Given the description of an element on the screen output the (x, y) to click on. 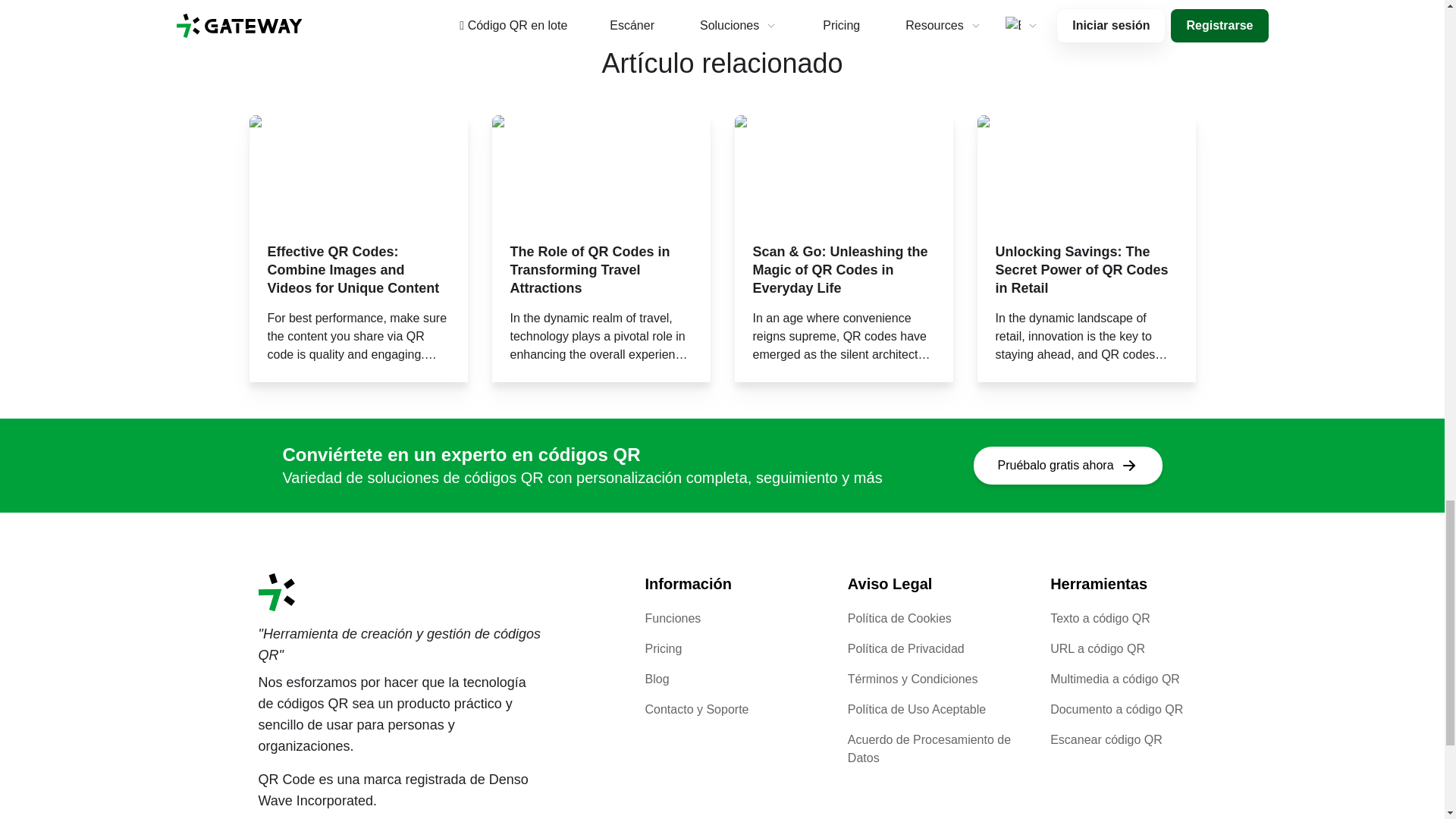
The Role of QR Codes in Transforming Travel Attractions (600, 269)
Blog (656, 678)
Unlocking Savings: The Secret Power of QR Codes in Retail (1085, 269)
Contacto y Soporte (696, 708)
Funciones (672, 617)
Pricing (663, 648)
